Given the description of an element on the screen output the (x, y) to click on. 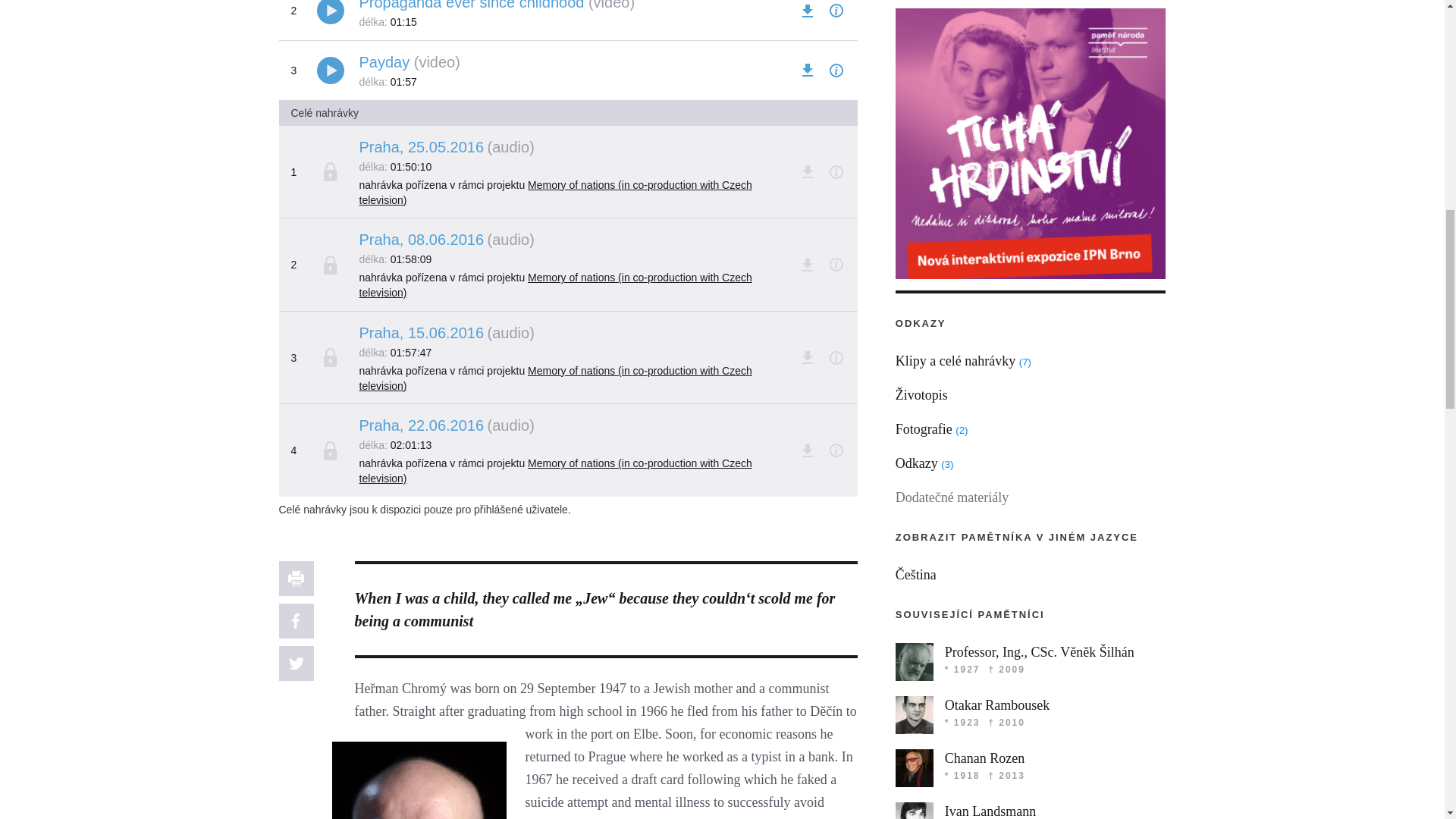
Download file (807, 357)
Download file (807, 264)
Download file (807, 10)
Download file (807, 450)
Download file (807, 70)
Download file (807, 171)
